Given the description of an element on the screen output the (x, y) to click on. 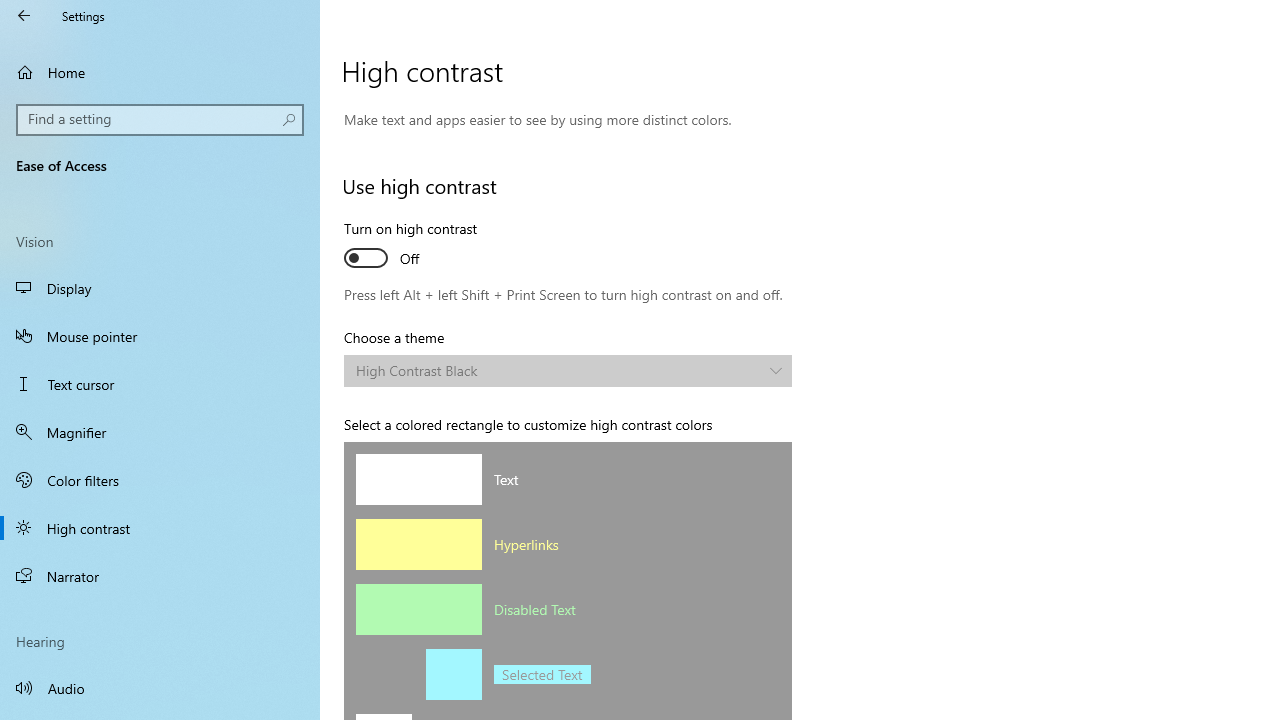
High contrast (160, 527)
Display (160, 287)
Mouse pointer (160, 335)
Turn on high contrast (417, 246)
High Contrast Black (557, 370)
High contrast theme (568, 370)
Search box, Find a setting (160, 119)
Hyperlink text color (418, 544)
Selected text color (383, 673)
Narrator (160, 575)
Home (160, 71)
Text cursor (160, 384)
Disabled text color (418, 609)
Color filters (160, 479)
Audio (160, 687)
